Given the description of an element on the screen output the (x, y) to click on. 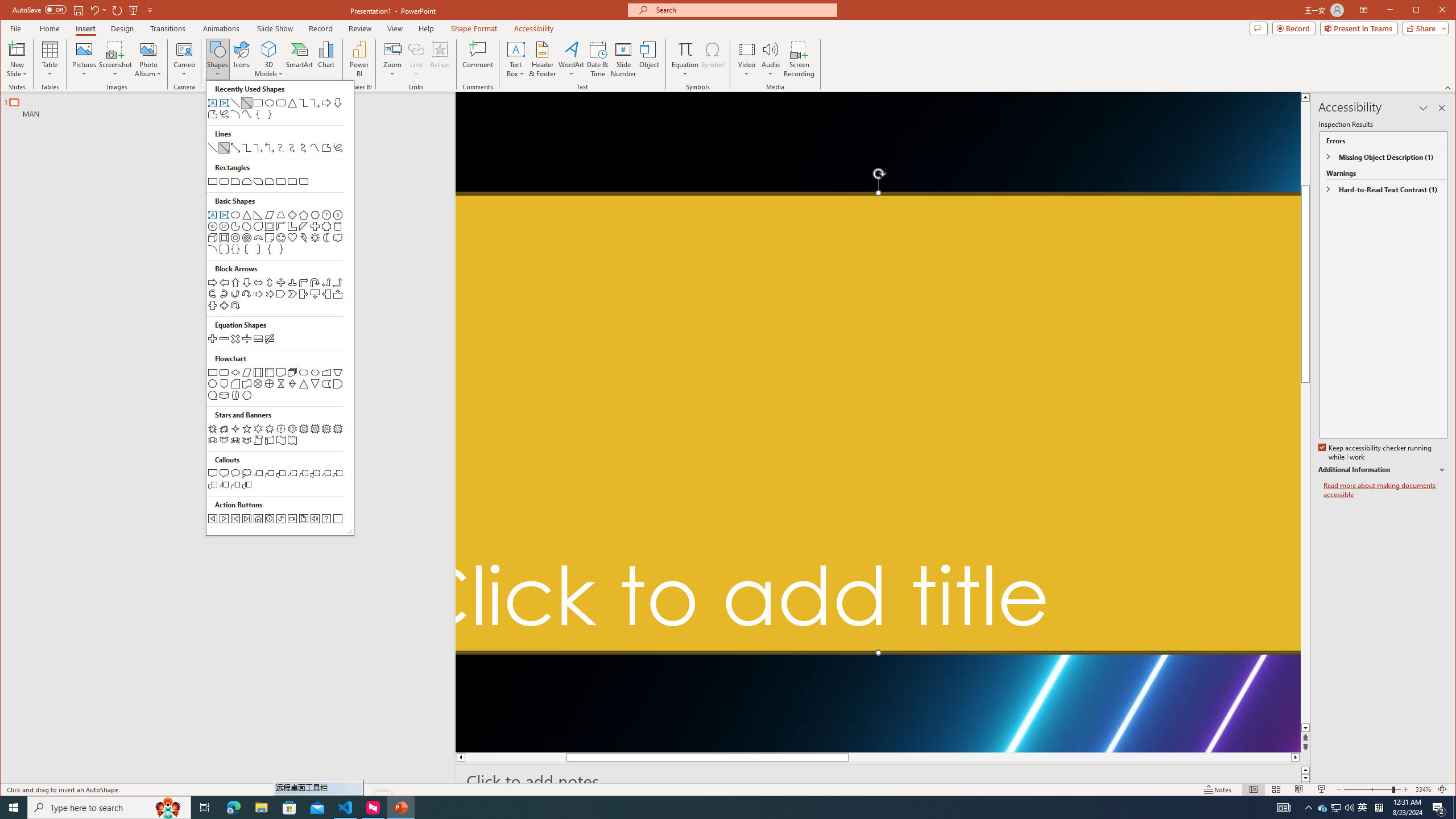
Cameo (183, 59)
Screen Recording... (799, 59)
Task View (204, 807)
Chart... (325, 59)
Pictures (1335, 807)
3D Models (84, 59)
Keep accessibility checker running while I work (269, 48)
Tray Input Indicator - Chinese (Simplified, China) (1375, 452)
